Given the description of an element on the screen output the (x, y) to click on. 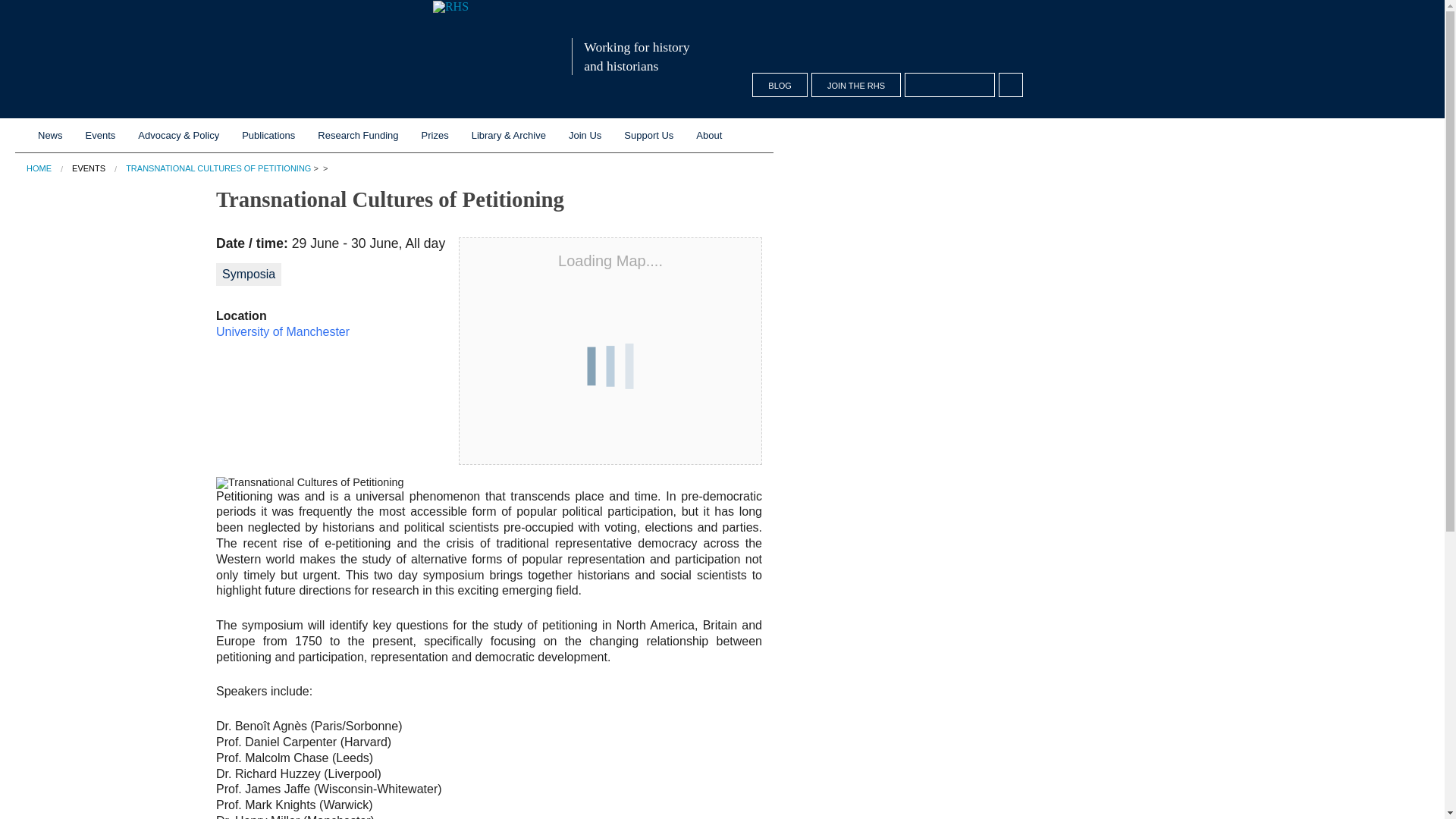
Go to RHS. (38, 168)
HOME (38, 168)
Prizes (435, 134)
Join Us (584, 134)
Publications (267, 134)
EVENTS (87, 167)
Support Us (648, 134)
About (708, 134)
BLOG (780, 84)
Research Funding (357, 134)
